Given the description of an element on the screen output the (x, y) to click on. 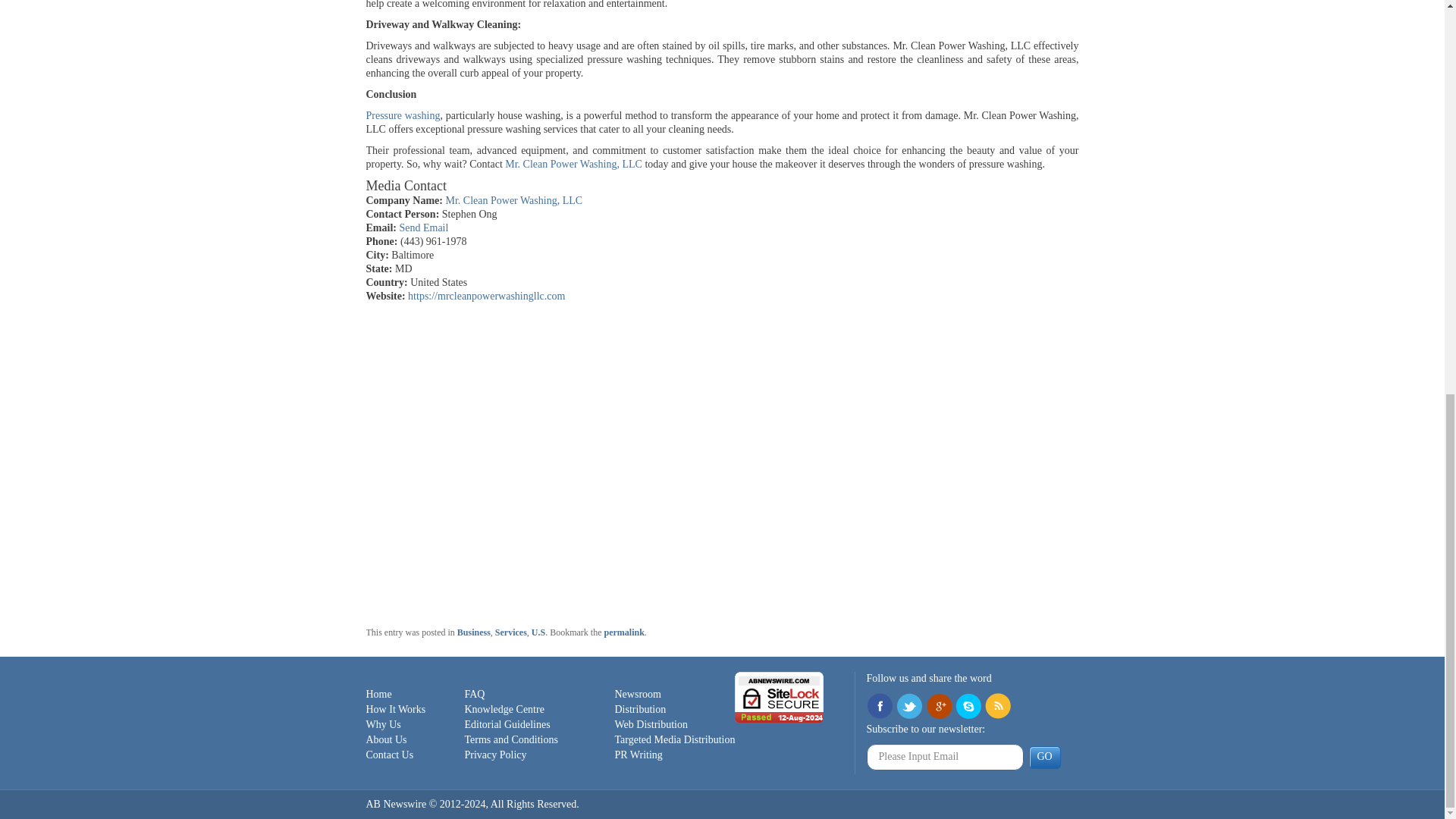
SiteLock (779, 696)
GO (1043, 757)
Please Input Email (944, 756)
